Given the description of an element on the screen output the (x, y) to click on. 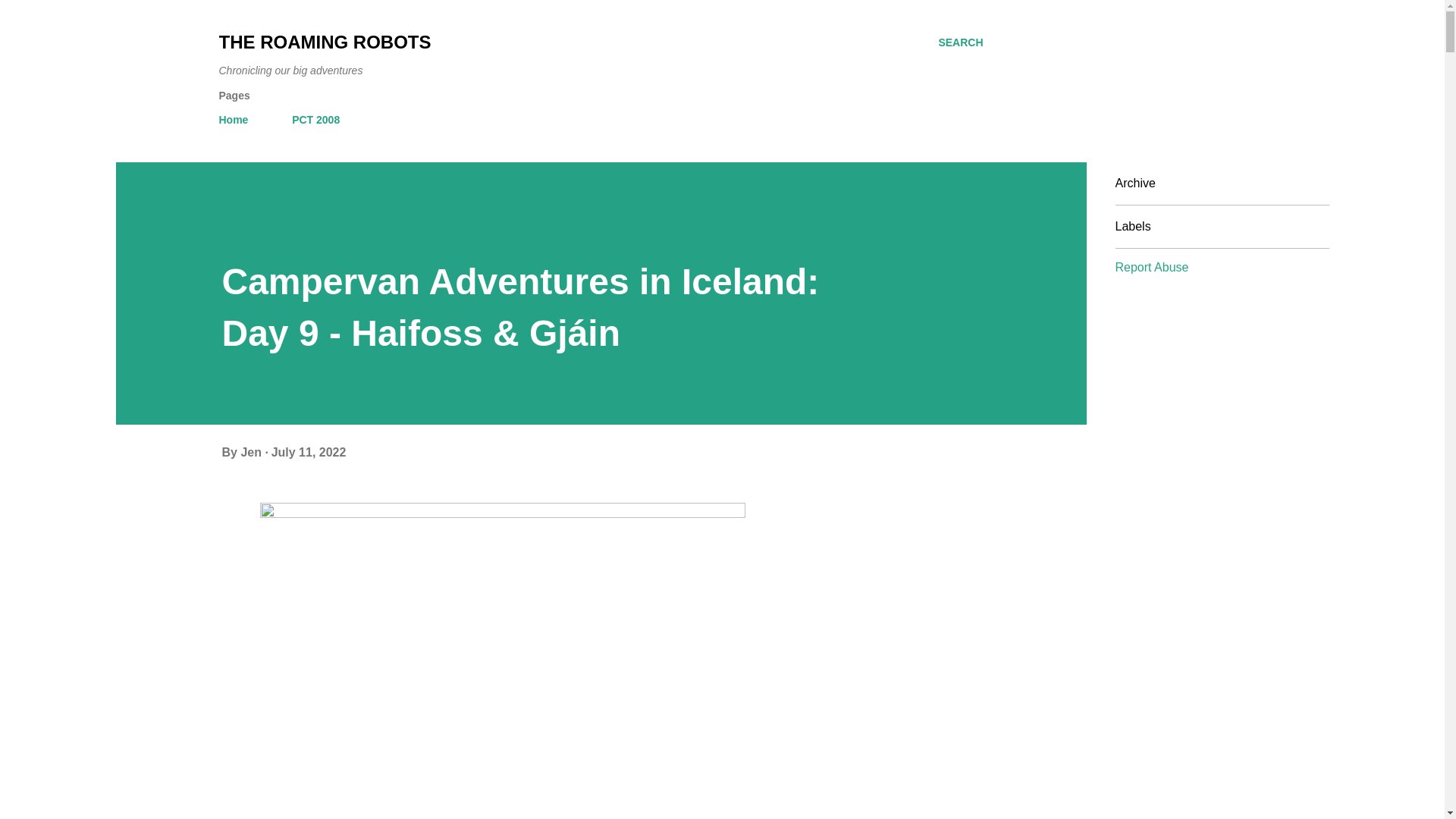
permanent link (308, 451)
July 11, 2022 (308, 451)
SEARCH (959, 42)
THE ROAMING ROBOTS (324, 41)
Jen (252, 451)
PCT 2008 (315, 119)
author profile (252, 451)
Home (237, 119)
